Given the description of an element on the screen output the (x, y) to click on. 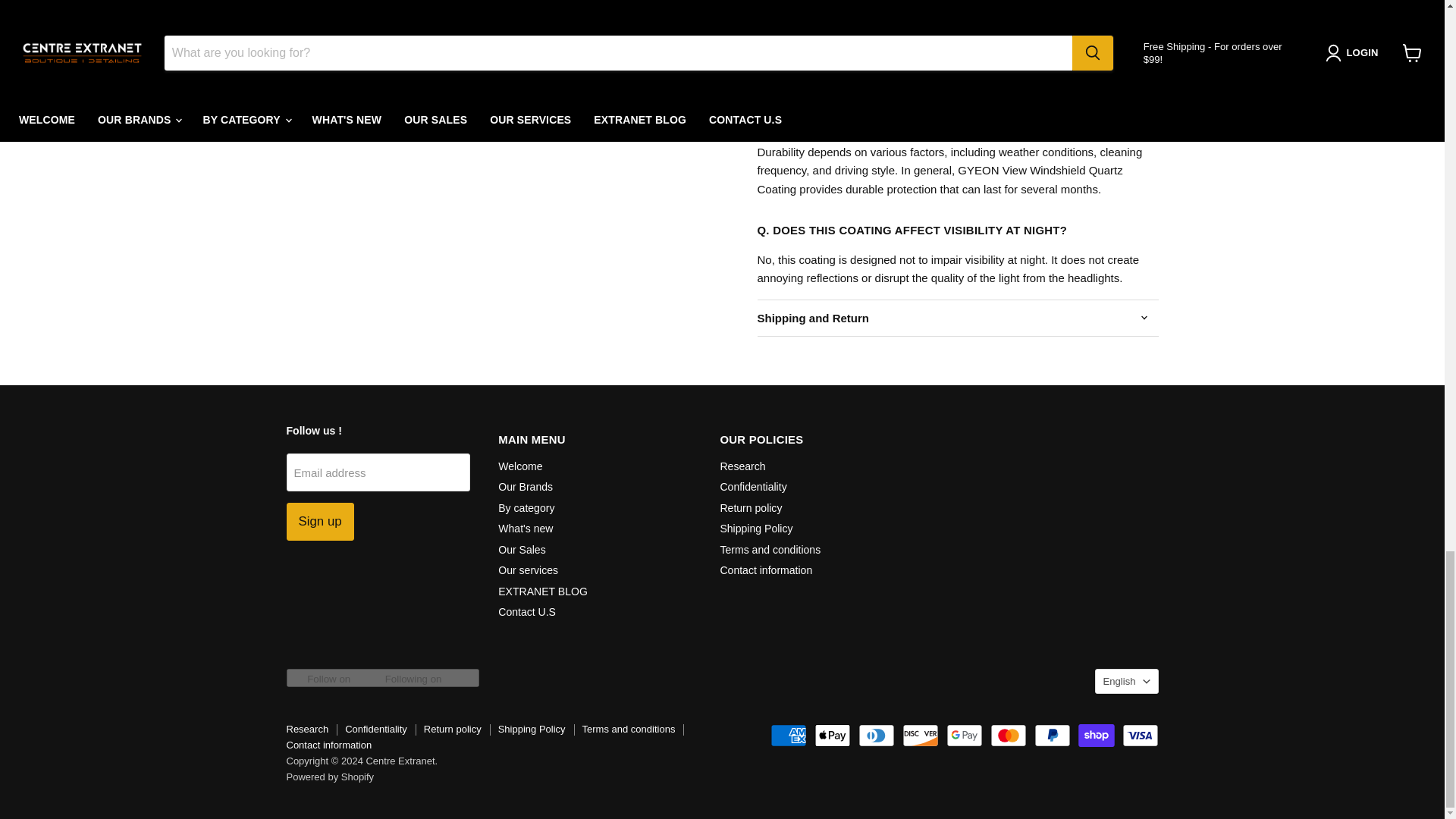
Diners Club (877, 734)
Shop Pay (1096, 734)
Discover (920, 734)
American Express (788, 734)
Apple Pay (831, 734)
PayPal (1051, 734)
Mastercard (1008, 734)
Google Pay (964, 734)
Visa (1140, 734)
